Given the description of an element on the screen output the (x, y) to click on. 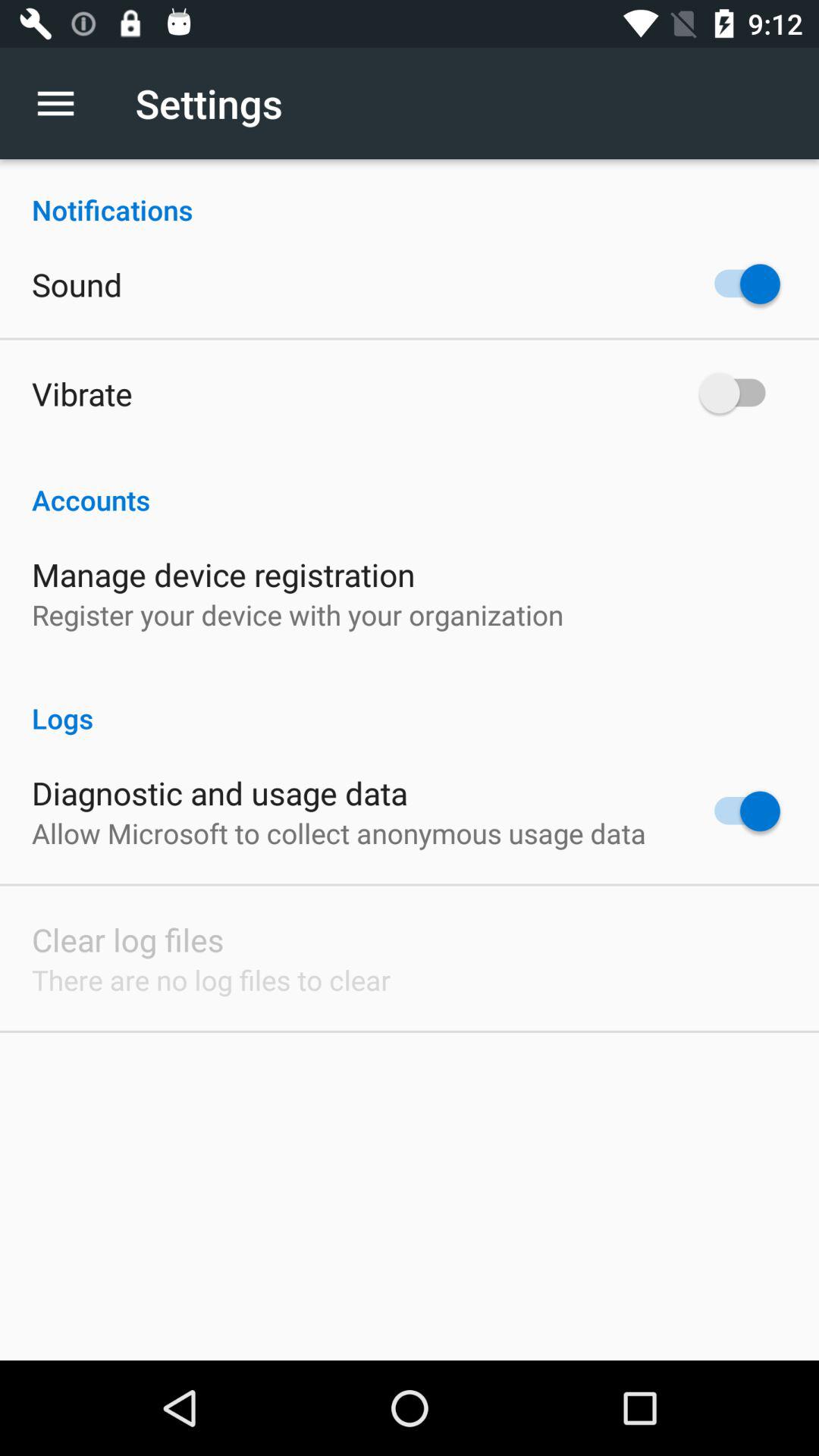
jump until the notifications (409, 193)
